Given the description of an element on the screen output the (x, y) to click on. 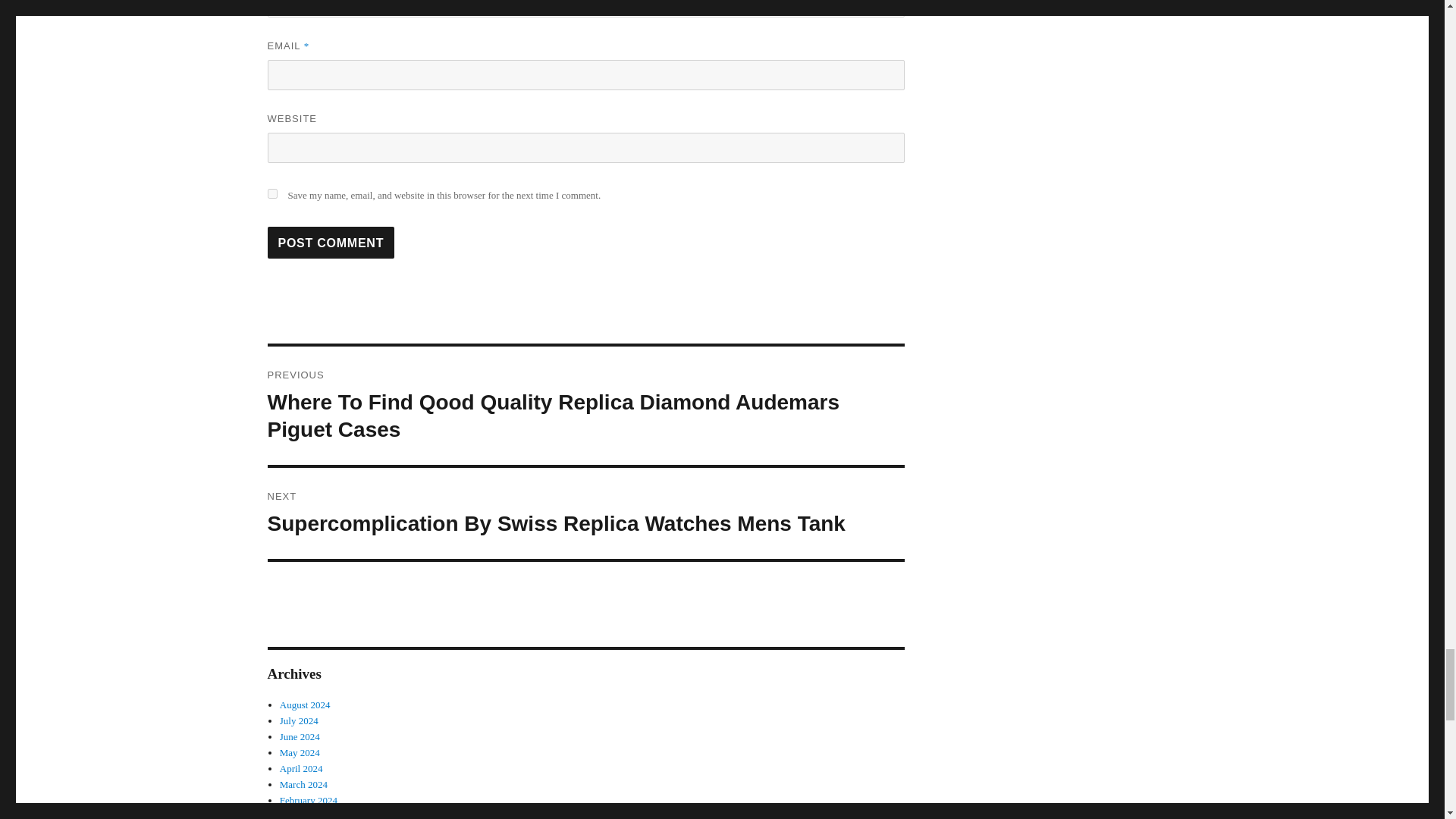
July 2024 (298, 720)
May 2024 (299, 752)
June 2024 (299, 736)
March 2024 (303, 784)
January 2024 (306, 814)
Post Comment (330, 242)
Post Comment (330, 242)
yes (271, 194)
April 2024 (301, 767)
